Given the description of an element on the screen output the (x, y) to click on. 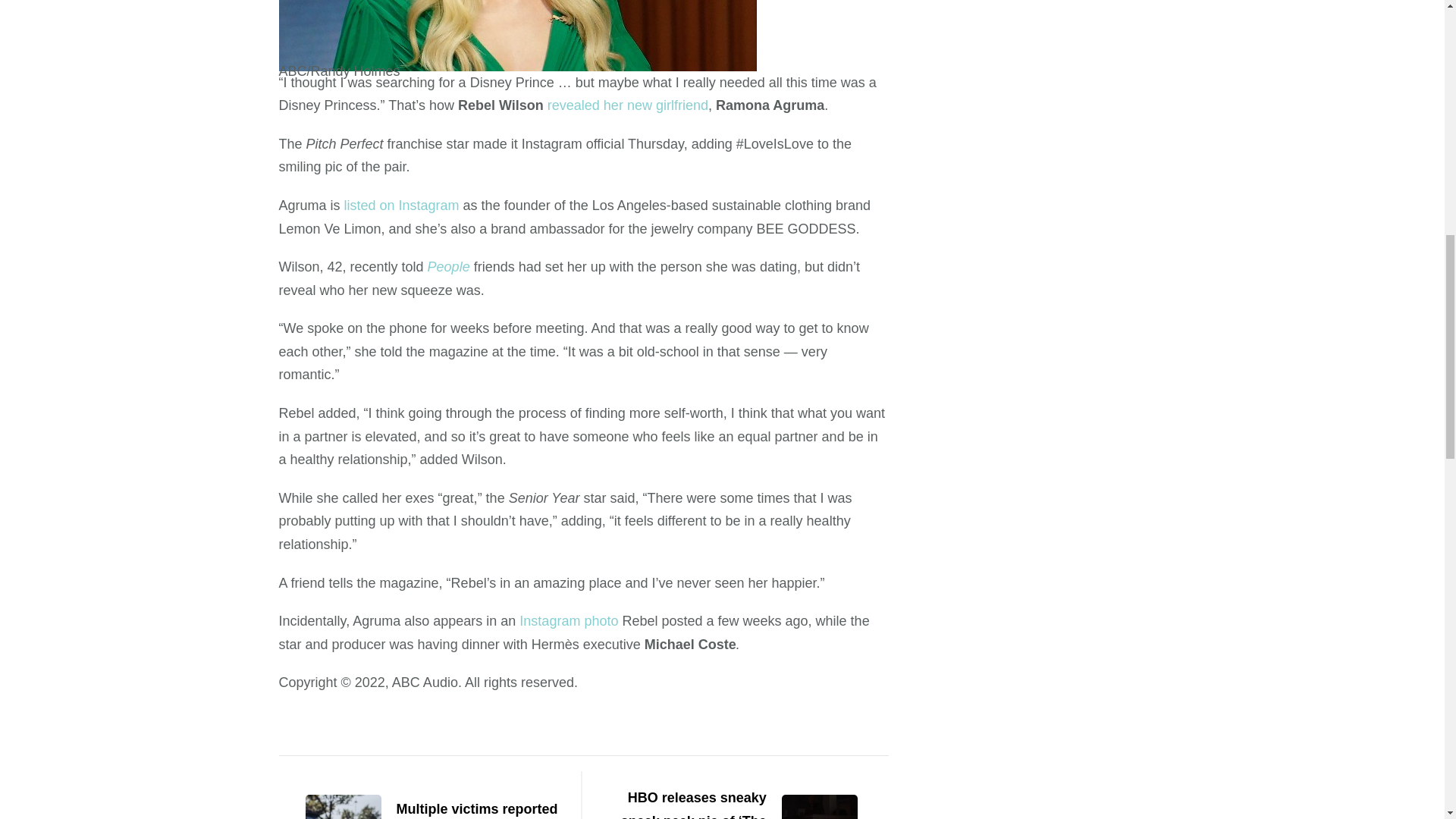
Multiple victims reported in shooting in Maryland: Sheriff (421, 808)
Instagram photo (568, 620)
revealed her new girlfriend (627, 105)
People (449, 266)
listed on Instagram (401, 205)
